Given the description of an element on the screen output the (x, y) to click on. 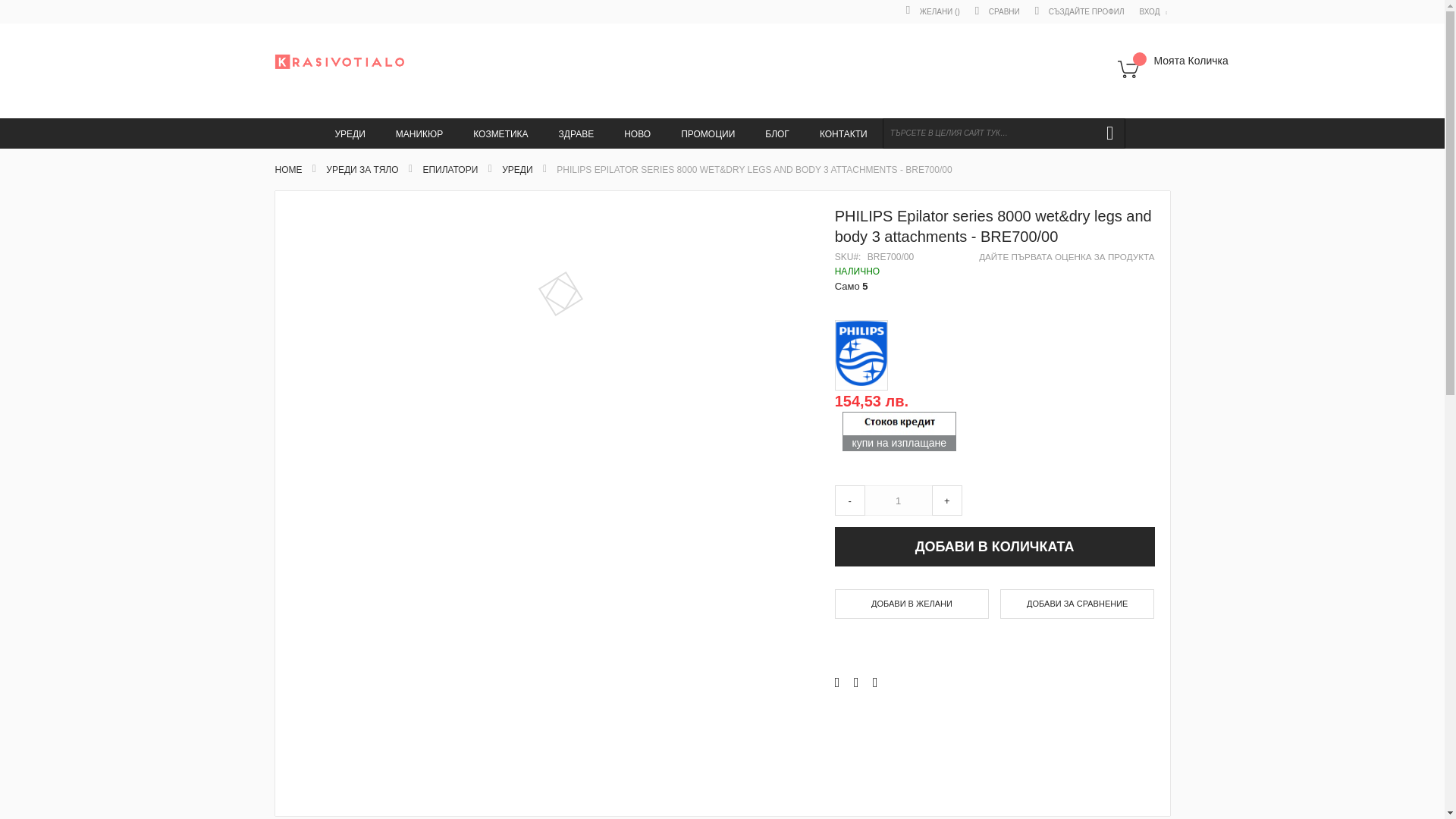
Availability (994, 271)
Go to Home Page (288, 169)
1 (898, 500)
krasivotialo (339, 61)
